Given the description of an element on the screen output the (x, y) to click on. 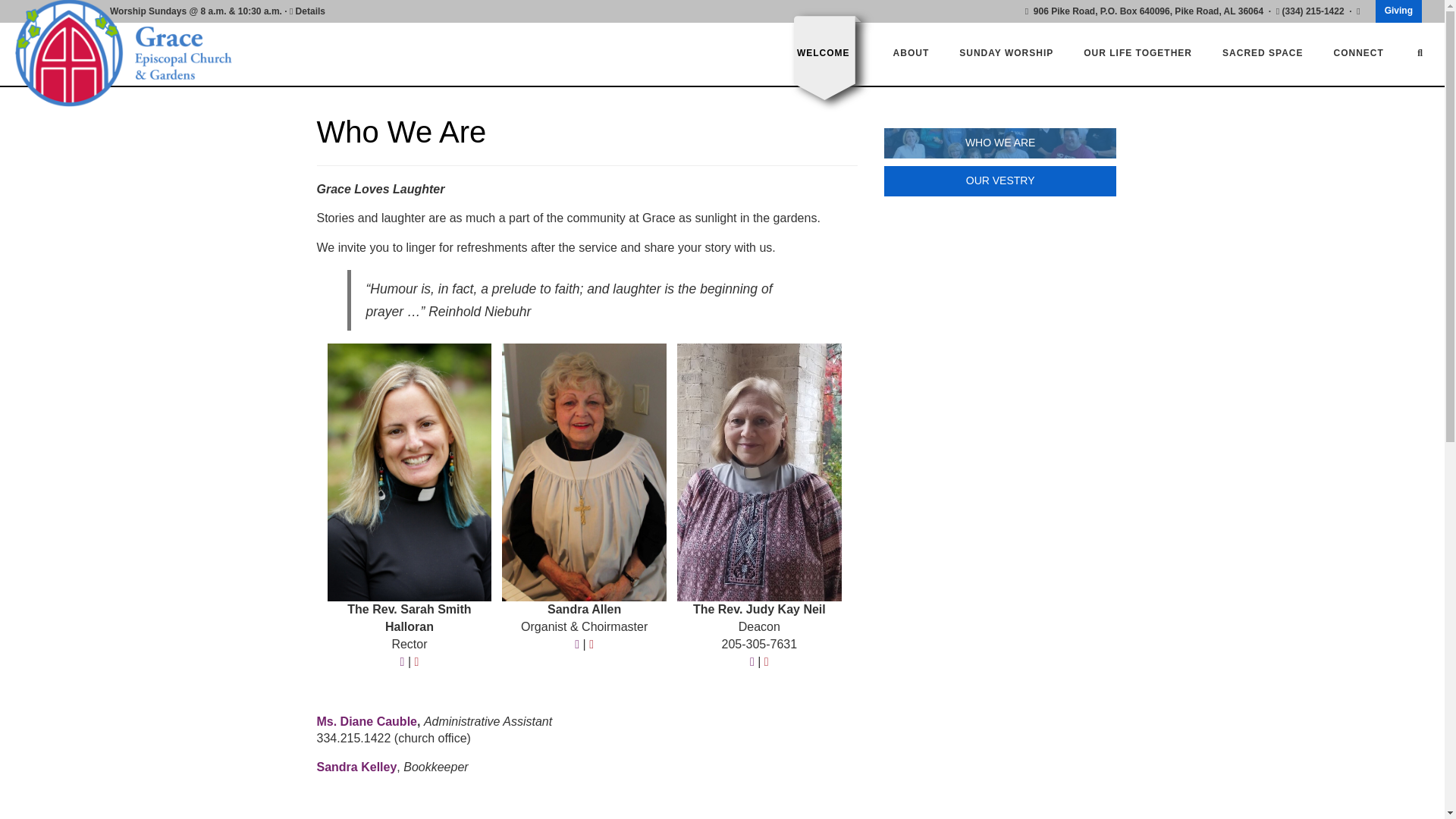
SACRED SPACE (1263, 52)
SUNDAY WORSHIP (1005, 52)
CONNECT (1358, 52)
WELCOME (823, 52)
ABOUT (911, 52)
OUR LIFE TOGETHER (1137, 52)
Grace Church and Gardens (139, 53)
Giving (1398, 11)
Grace Church and Gardens (139, 53)
